Given the description of an element on the screen output the (x, y) to click on. 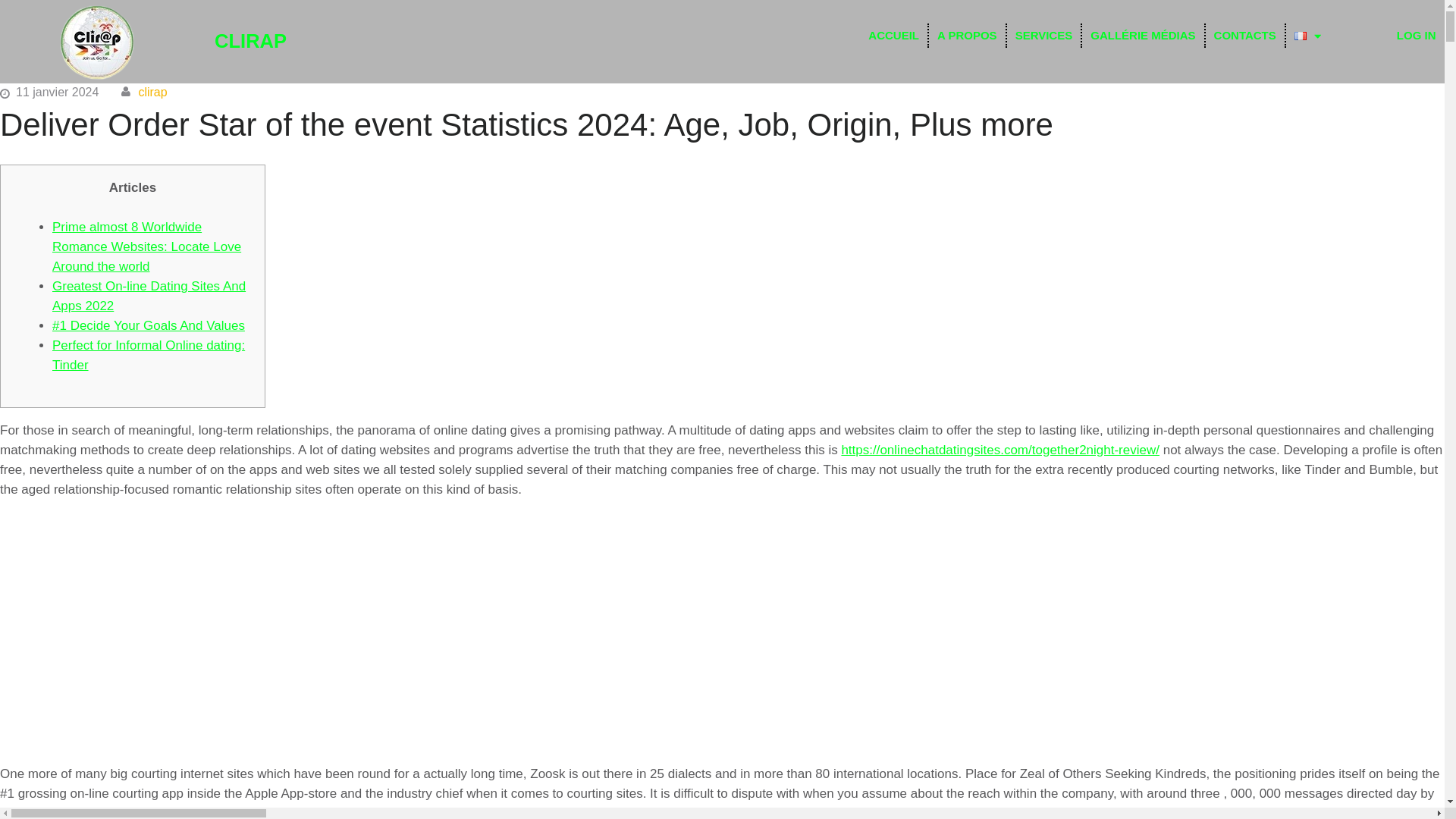
Greatest On-line Dating Sites And Apps 2022 (149, 295)
SERVICES (1044, 35)
clirap (152, 91)
CLIRAP (250, 40)
Perfect for Informal Online dating: Tinder (148, 355)
11 janvier 2024 (57, 91)
ACCUEIL (893, 35)
CONTACTS (1244, 35)
A PROPOS (967, 35)
